Given the description of an element on the screen output the (x, y) to click on. 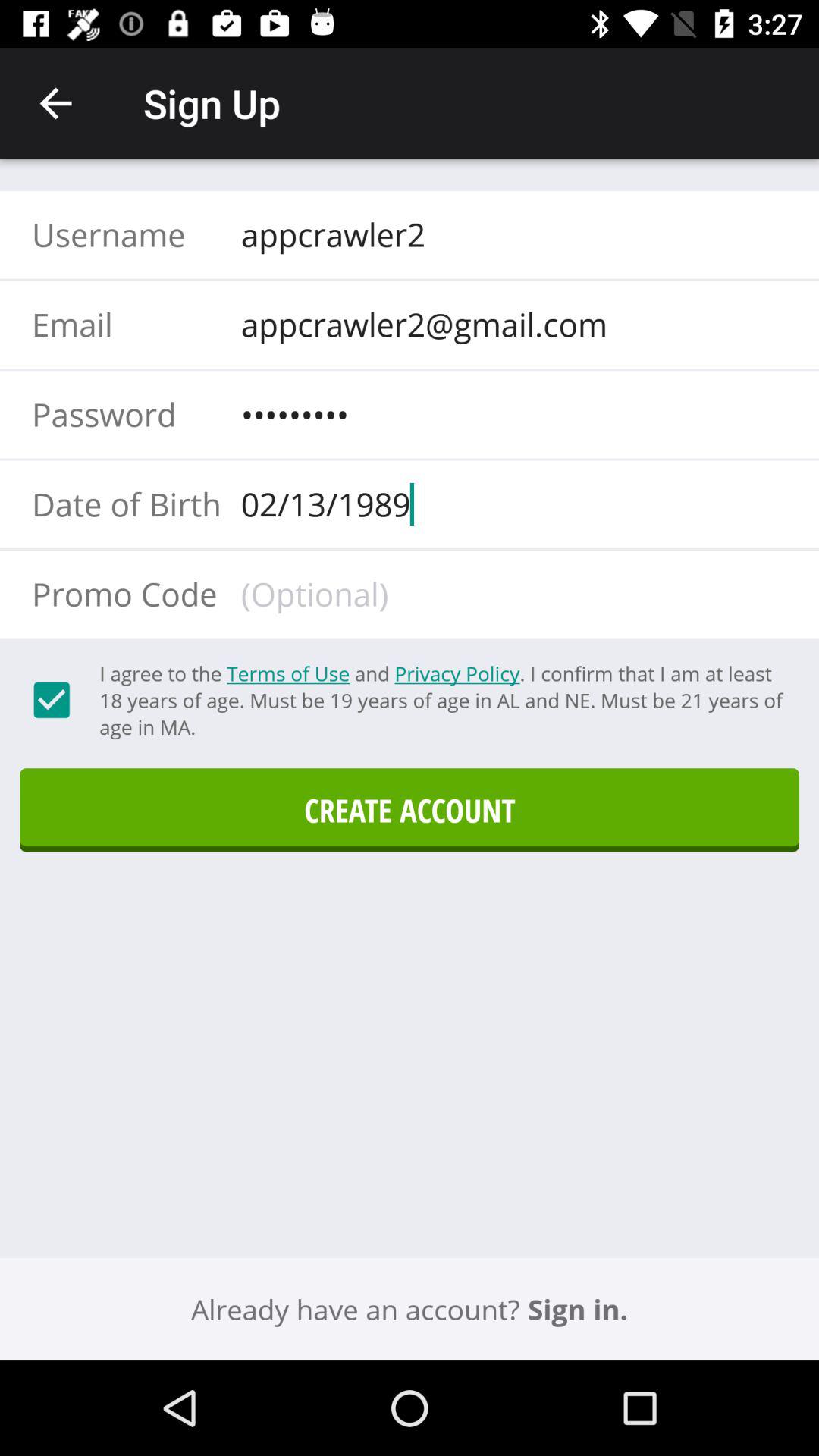
turn on the item to the right of the email item (508, 324)
